Given the description of an element on the screen output the (x, y) to click on. 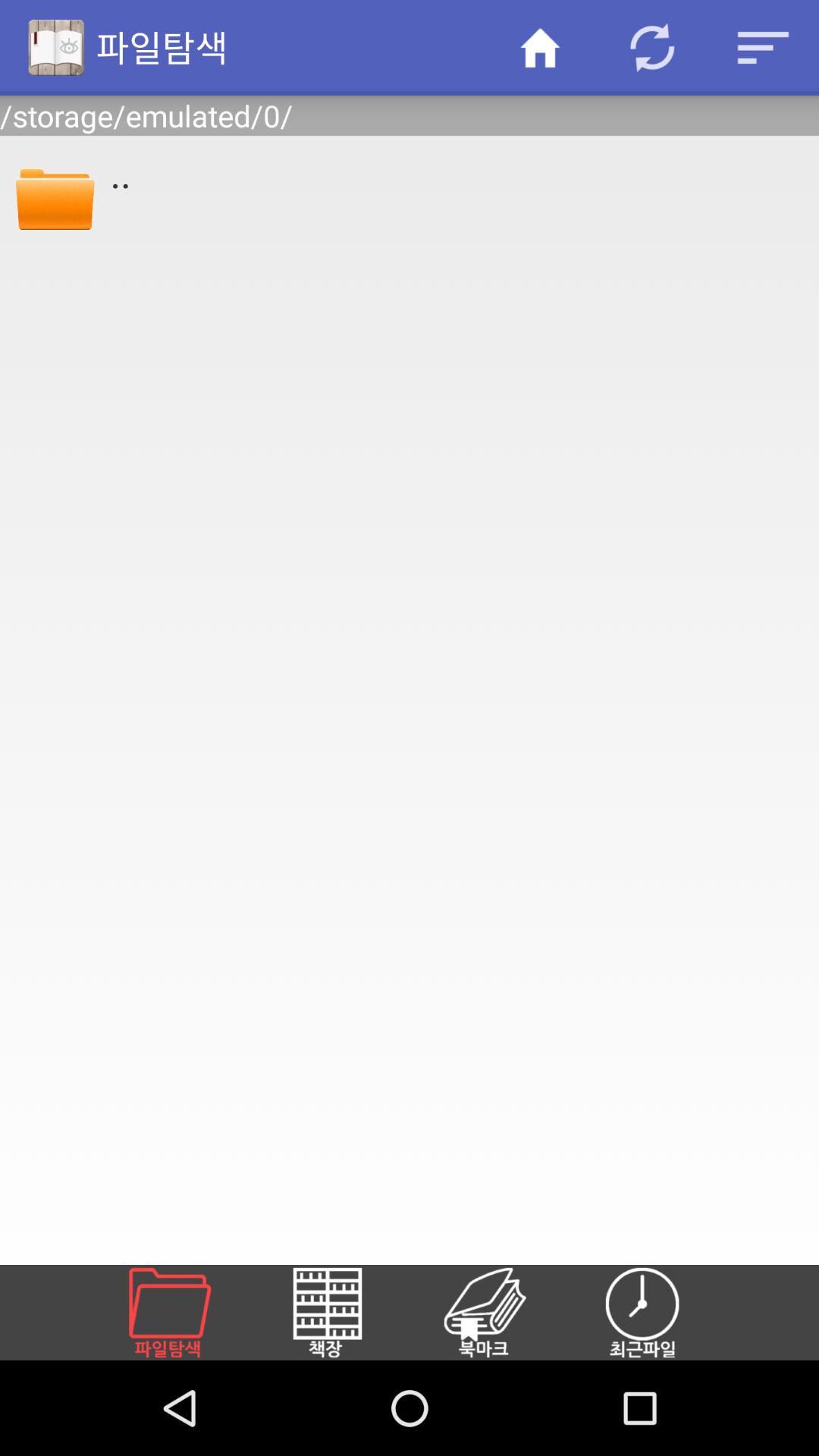
tap the .. (454, 172)
